Given the description of an element on the screen output the (x, y) to click on. 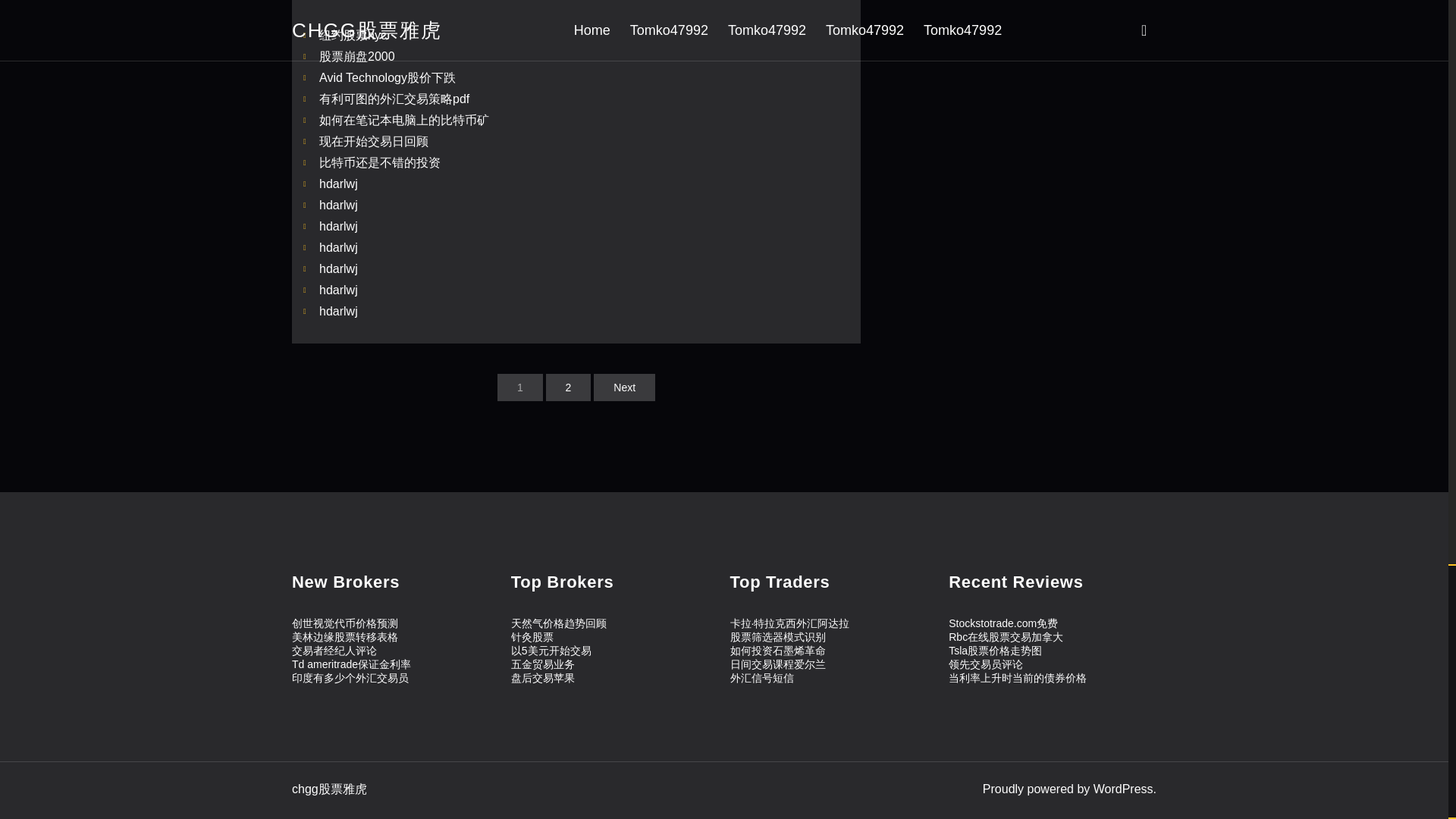
hdarlwj (338, 289)
hdarlwj (338, 183)
hdarlwj (338, 205)
hdarlwj (338, 310)
hdarlwj (338, 226)
2 (568, 387)
Next (624, 387)
hdarlwj (338, 246)
hdarlwj (338, 268)
